Given the description of an element on the screen output the (x, y) to click on. 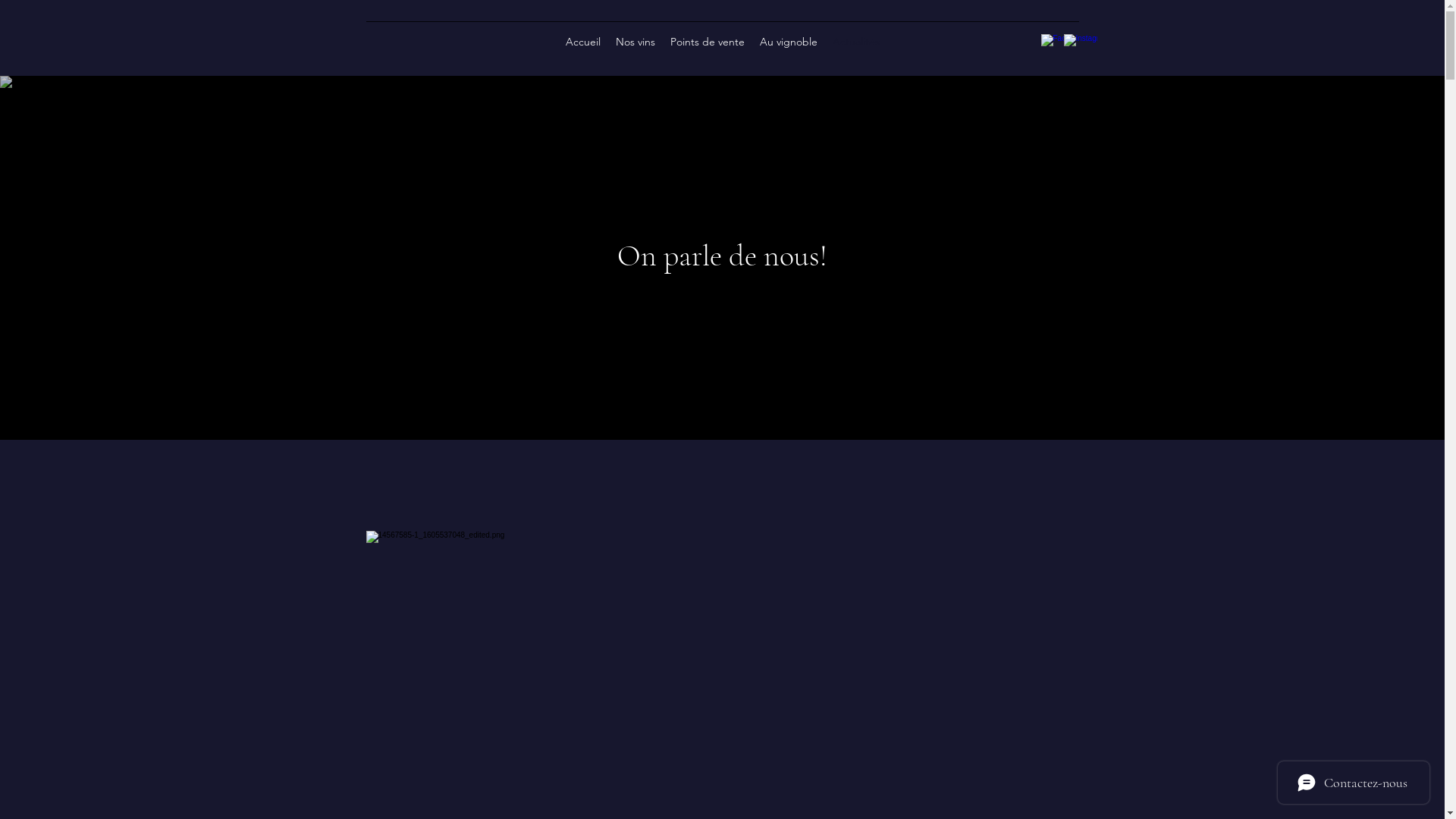
Nos vins Element type: text (635, 41)
Au vignoble Element type: text (788, 41)
Points de vente Element type: text (707, 41)
Accueil Element type: text (583, 41)
